Given the description of an element on the screen output the (x, y) to click on. 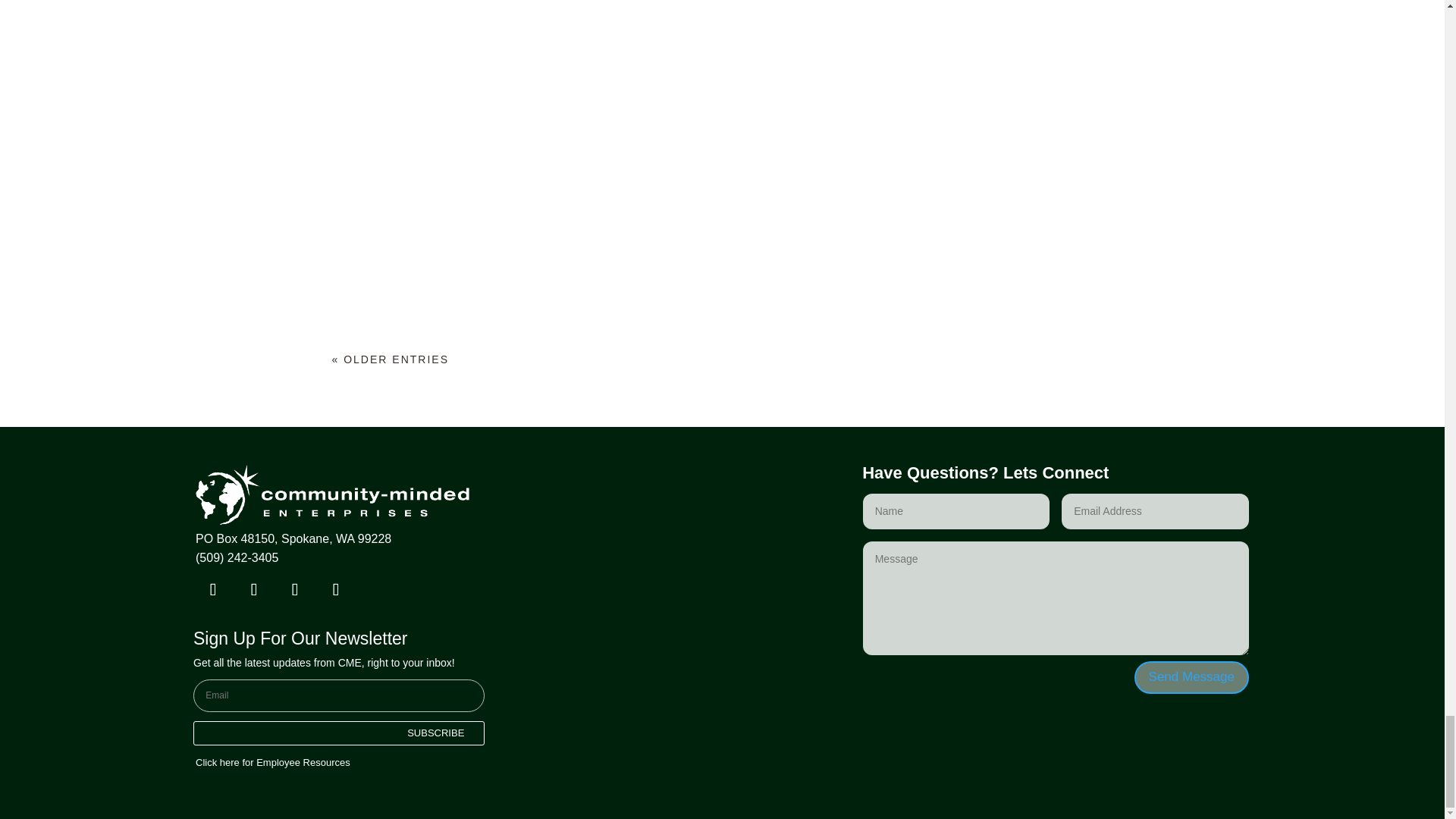
Follow on Youtube (295, 589)
Follow on Facebook (212, 589)
Follow on LinkedIn (252, 589)
CME WHITE (331, 494)
Follow on Instagram (335, 589)
